Given the description of an element on the screen output the (x, y) to click on. 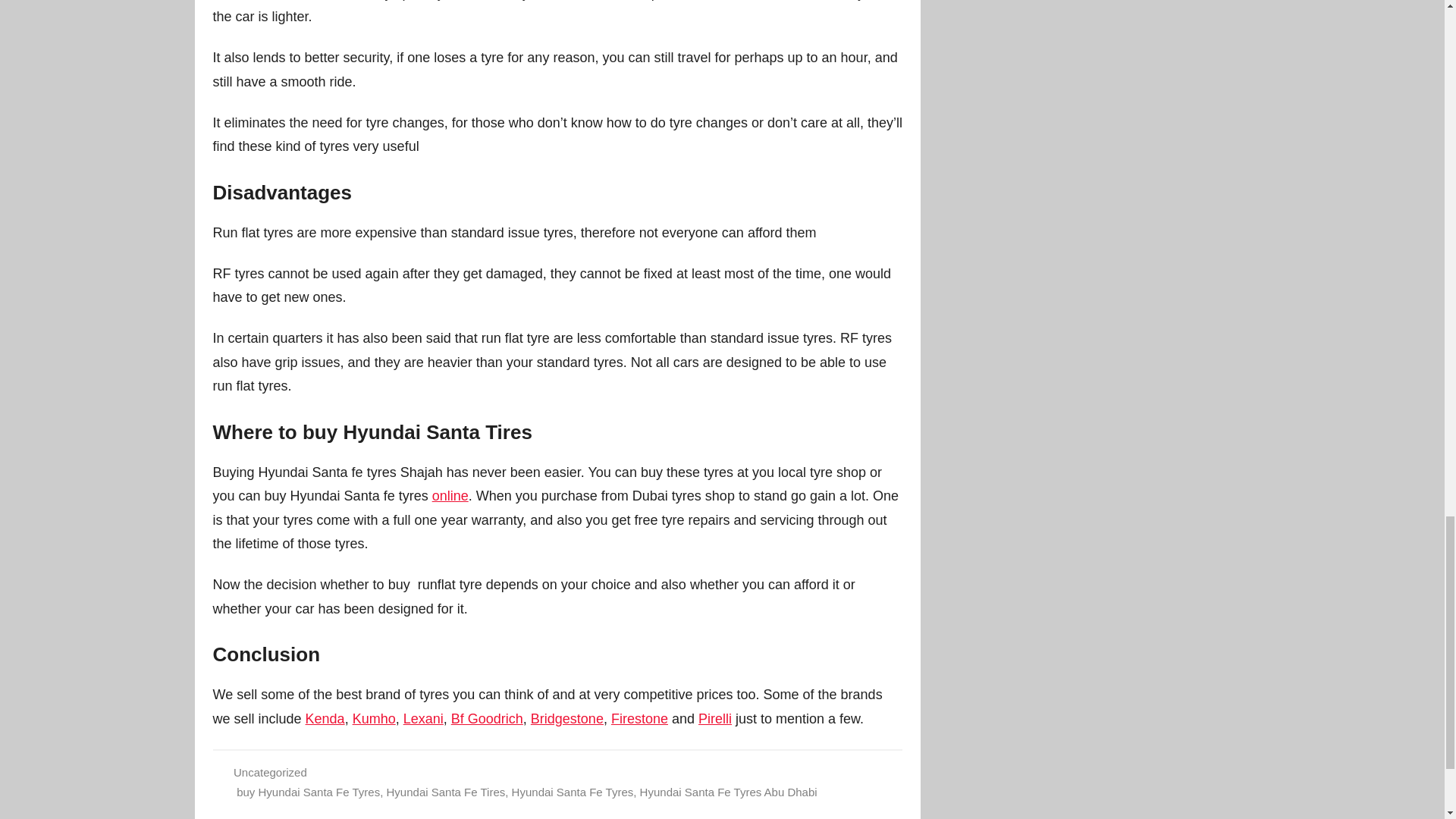
Uncategorized (269, 771)
Bridgestone (567, 718)
Kenda (325, 718)
Hyundai Santa Fe Tires (446, 791)
Hyundai Santa Fe Tyres (572, 791)
Firestone (639, 718)
Pirelli (715, 718)
Hyundai Santa Fe Tyres Abu Dhabi (728, 791)
Lexani (423, 718)
online (450, 495)
buy Hyundai Santa Fe Tyres (307, 791)
Bf Goodrich (486, 718)
Kumho (374, 718)
